Given the description of an element on the screen output the (x, y) to click on. 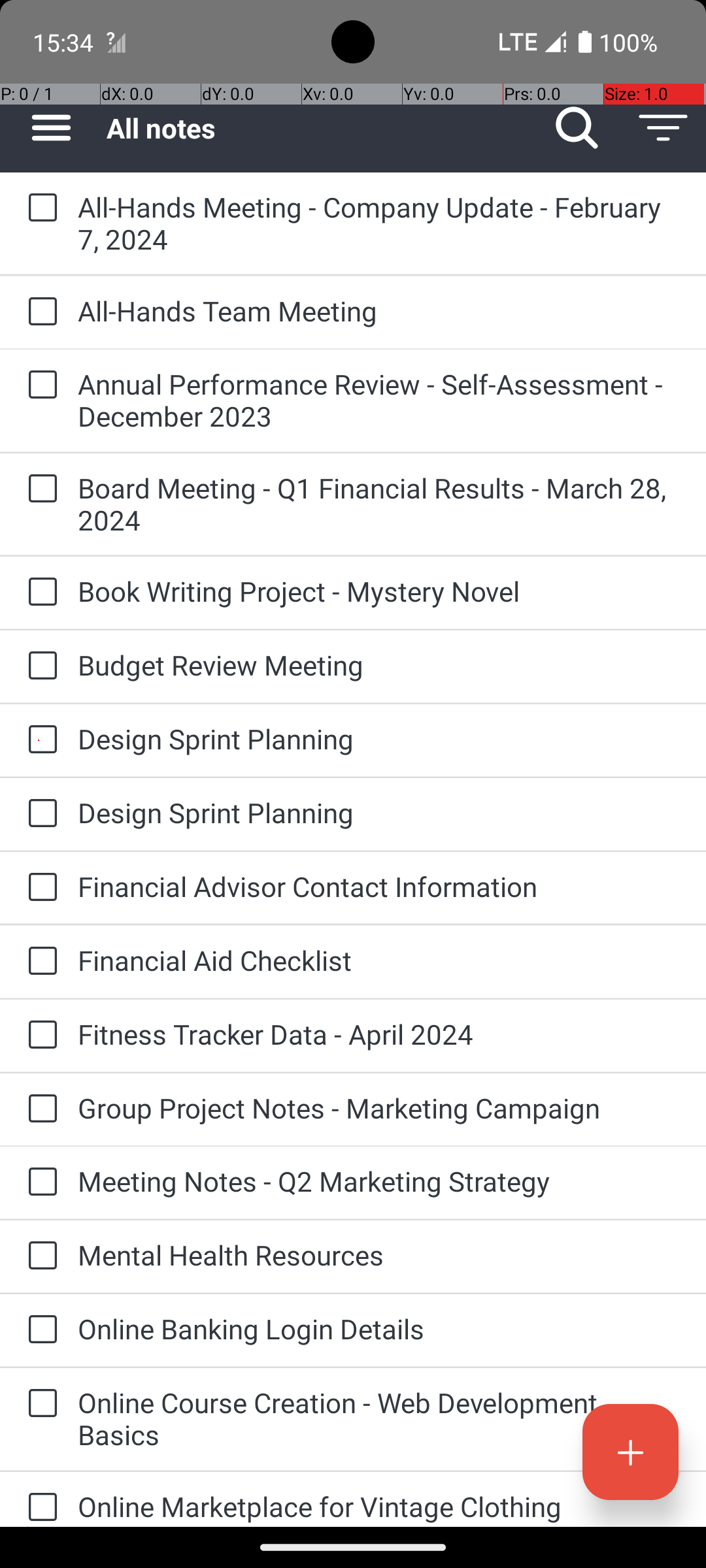
to-do: All-Hands Meeting - Company Update - February 7, 2024 Element type: android.widget.CheckBox (38, 208)
All-Hands Meeting - Company Update - February 7, 2024 Element type: android.widget.TextView (378, 222)
to-do: All-Hands Team Meeting Element type: android.widget.CheckBox (38, 312)
All-Hands Team Meeting Element type: android.widget.TextView (378, 310)
to-do: Board Meeting - Q1 Financial Results - March 28, 2024 Element type: android.widget.CheckBox (38, 489)
Board Meeting - Q1 Financial Results - March 28, 2024 Element type: android.widget.TextView (378, 503)
to-do: Book Writing Project - Mystery Novel Element type: android.widget.CheckBox (38, 592)
Book Writing Project - Mystery Novel Element type: android.widget.TextView (378, 590)
to-do: Budget Review Meeting Element type: android.widget.CheckBox (38, 666)
Budget Review Meeting Element type: android.widget.TextView (378, 664)
to-do: Design Sprint Planning Element type: android.widget.CheckBox (38, 740)
Design Sprint Planning Element type: android.widget.TextView (378, 738)
to-do: Financial Aid Checklist Element type: android.widget.CheckBox (38, 961)
Financial Aid Checklist Element type: android.widget.TextView (378, 959)
to-do: Fitness Tracker Data - April 2024 Element type: android.widget.CheckBox (38, 1035)
Fitness Tracker Data - April 2024 Element type: android.widget.TextView (378, 1033)
to-do: Meeting Notes - Q2 Marketing Strategy Element type: android.widget.CheckBox (38, 1182)
Meeting Notes - Q2 Marketing Strategy Element type: android.widget.TextView (378, 1180)
to-do: Mental Health Resources Element type: android.widget.CheckBox (38, 1256)
Mental Health Resources Element type: android.widget.TextView (378, 1254)
to-do: Online Banking Login Details Element type: android.widget.CheckBox (38, 1330)
Online Banking Login Details Element type: android.widget.TextView (378, 1328)
to-do: Online Course Creation - Web Development Basics Element type: android.widget.CheckBox (38, 1404)
Online Course Creation - Web Development Basics Element type: android.widget.TextView (378, 1418)
to-do: Online Marketplace for Vintage Clothing Element type: android.widget.CheckBox (38, 1498)
Online Marketplace for Vintage Clothing Element type: android.widget.TextView (378, 1505)
